Given the description of an element on the screen output the (x, y) to click on. 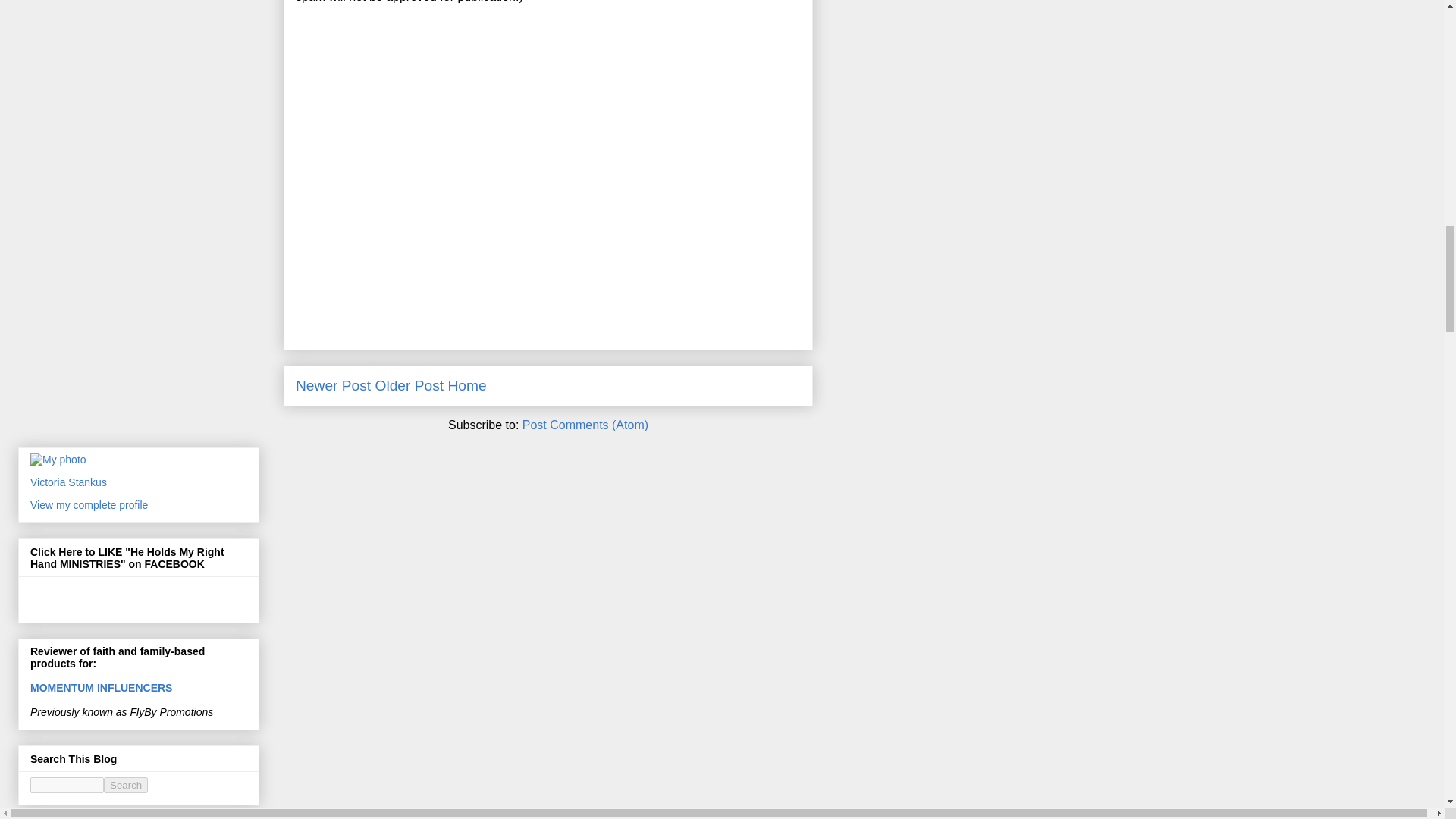
Home (467, 385)
Search (125, 784)
search (125, 784)
Older Post (409, 385)
Search (125, 784)
search (66, 784)
Newer Post (333, 385)
Older Post (409, 385)
Newer Post (333, 385)
